Given the description of an element on the screen output the (x, y) to click on. 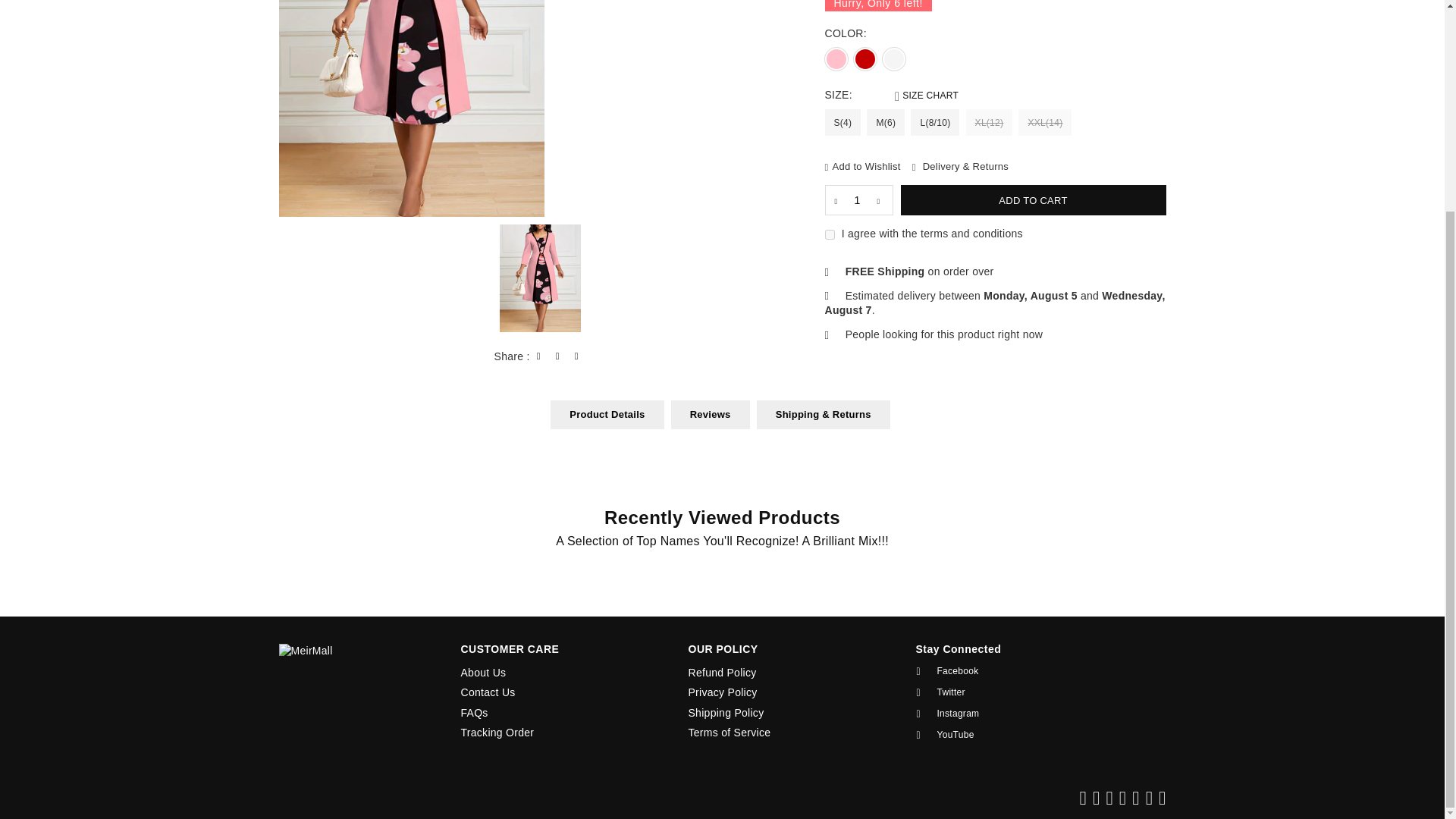
MeirMall on Facebook (1013, 671)
tearm (829, 234)
MeirMall on YouTube (1013, 735)
MeirMall on Twitter (1013, 692)
Quantity (859, 200)
MeirMall on Instagram (1013, 713)
